Given the description of an element on the screen output the (x, y) to click on. 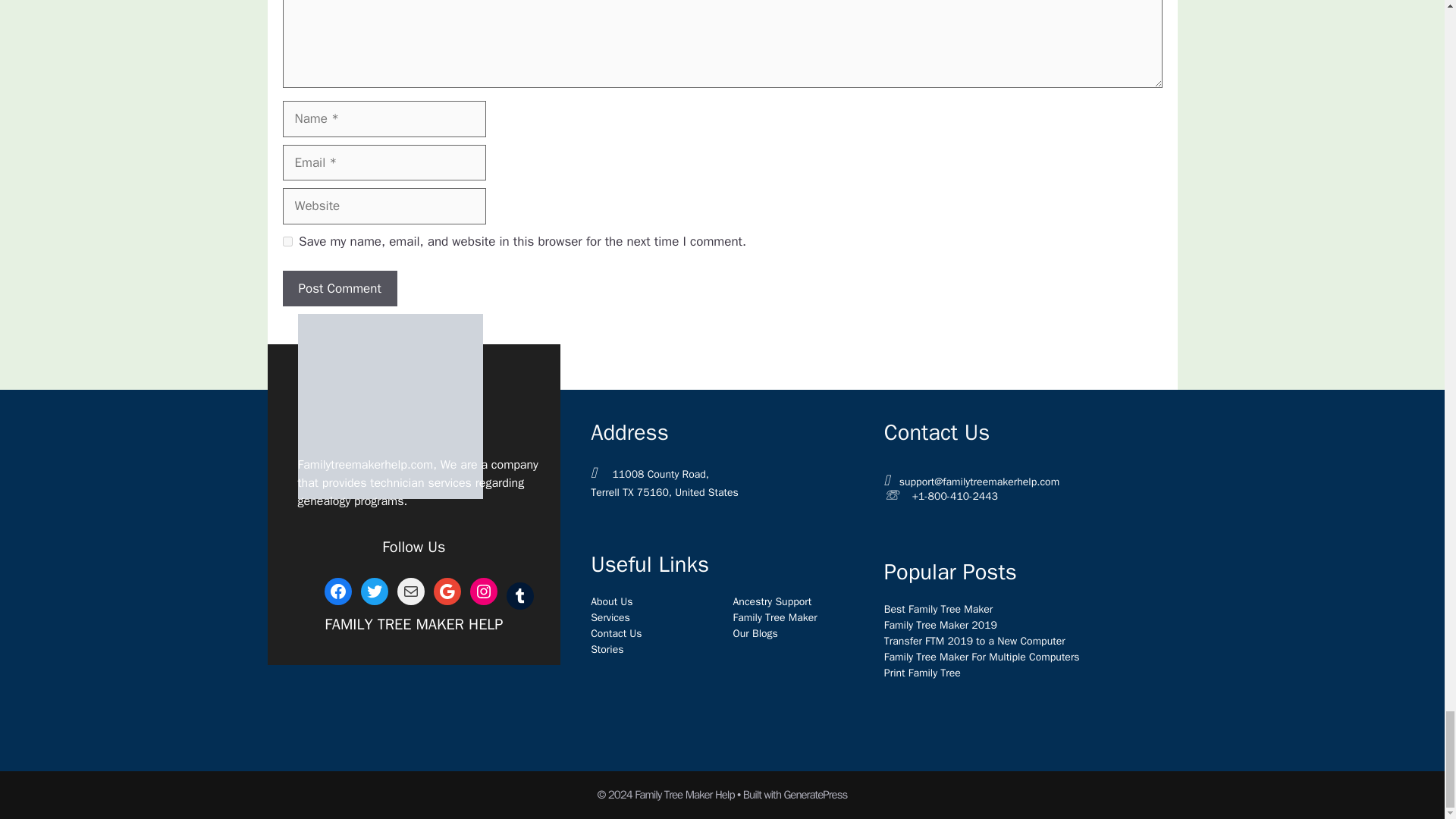
Post Comment (339, 289)
yes (287, 241)
